Given the description of an element on the screen output the (x, y) to click on. 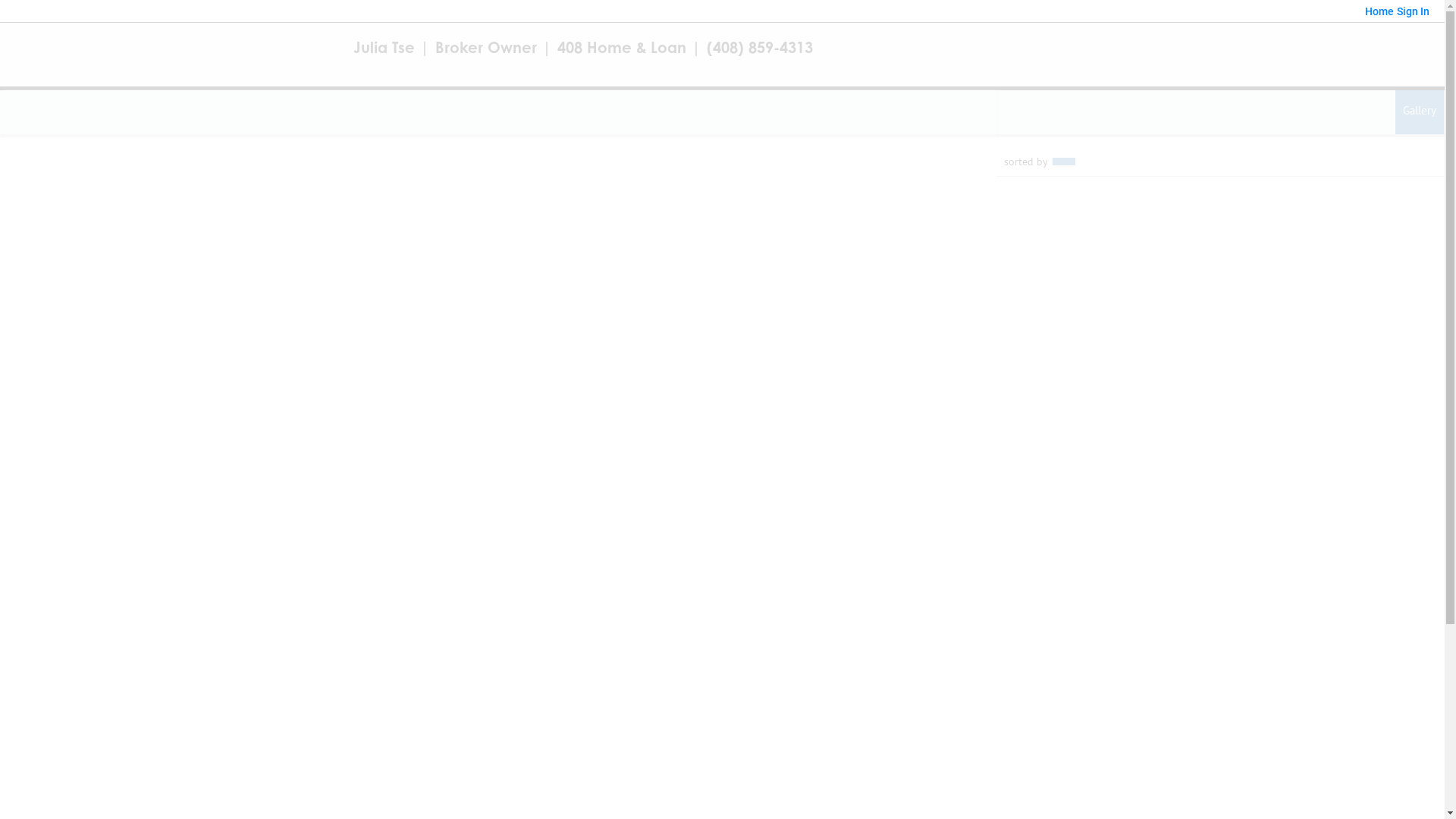
Home Element type: text (1379, 11)
Sign In Element type: text (1412, 11)
List view Element type: hover (1419, 112)
